Given the description of an element on the screen output the (x, y) to click on. 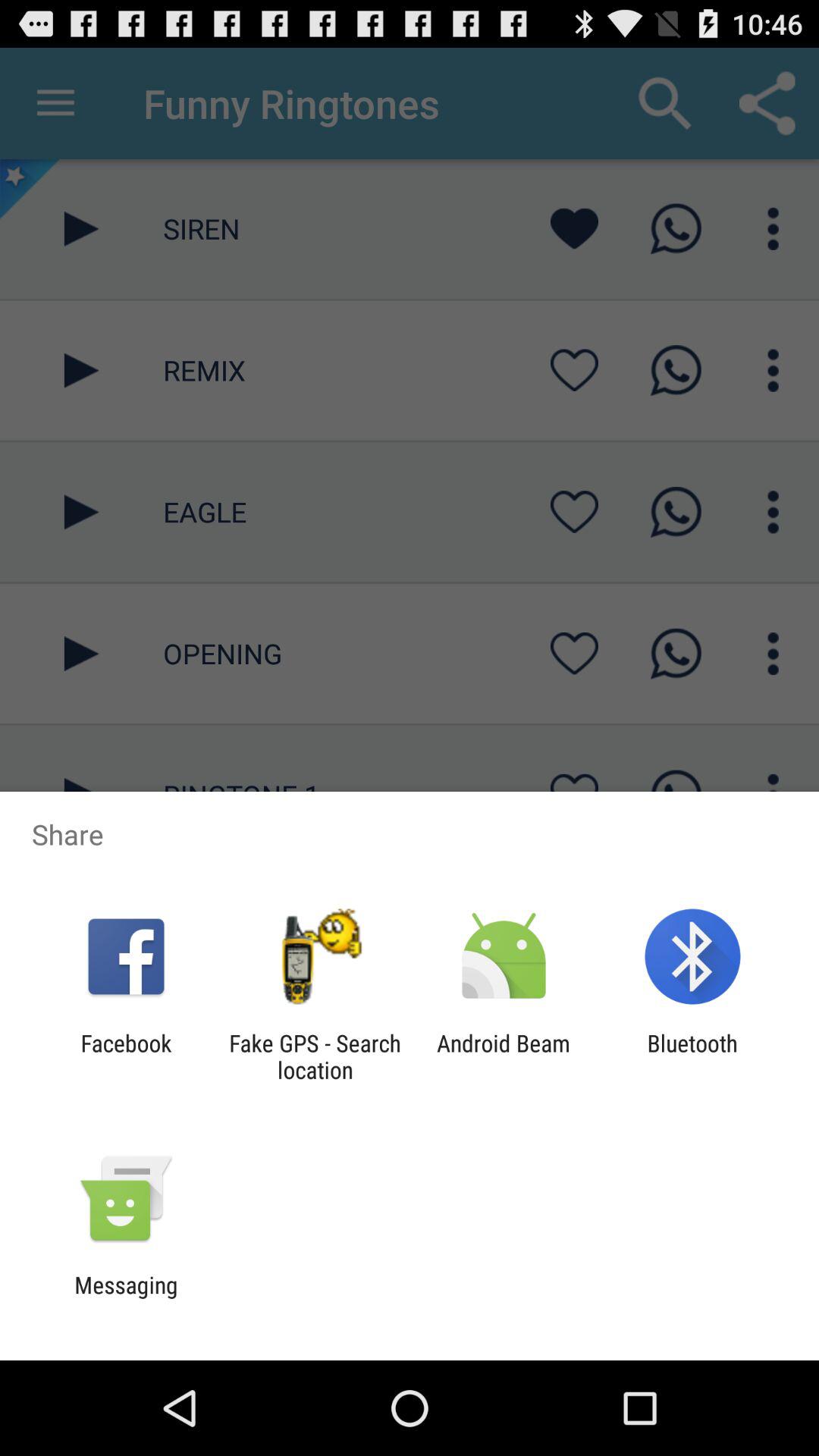
launch app next to bluetooth (503, 1056)
